Given the description of an element on the screen output the (x, y) to click on. 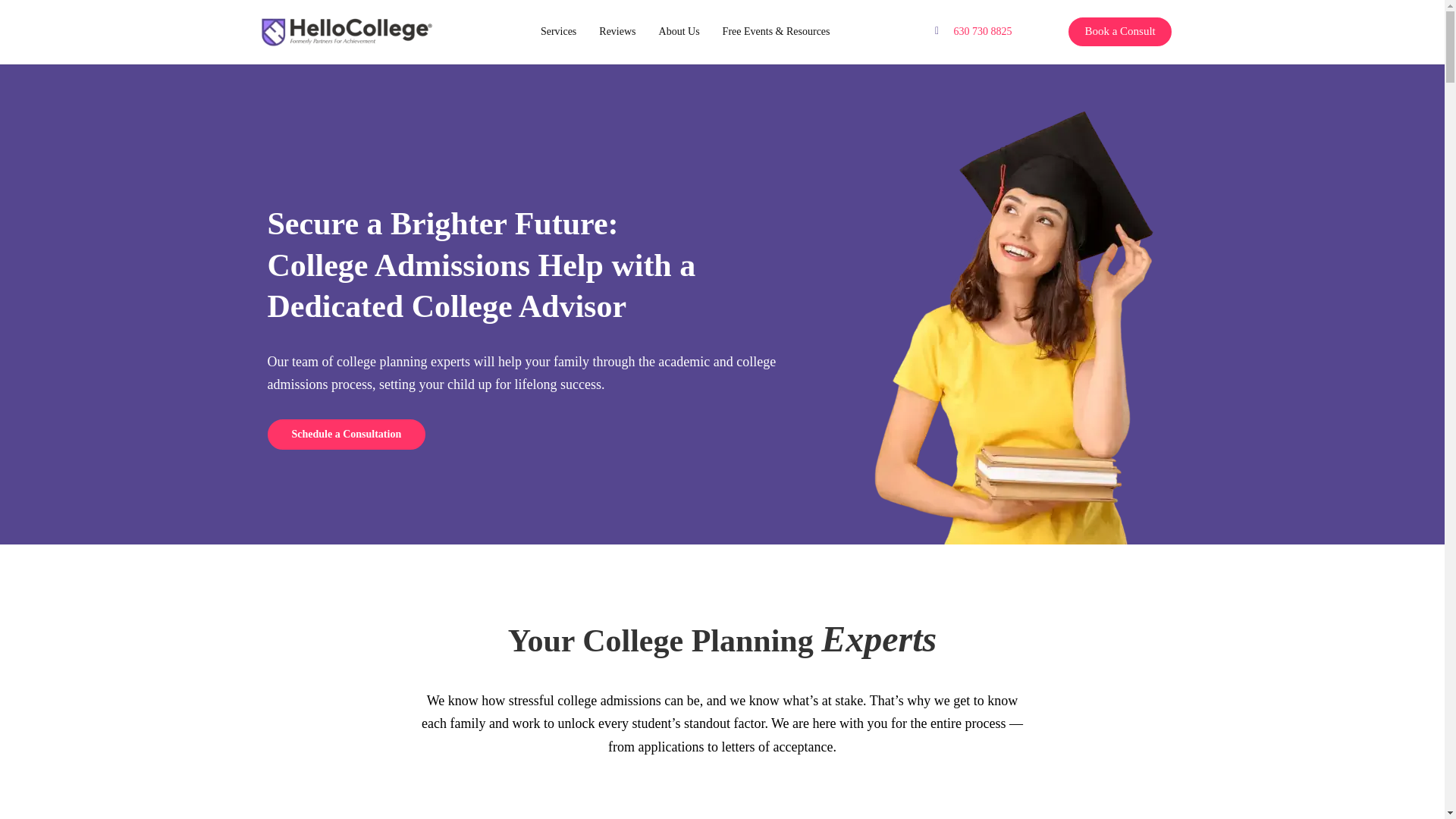
Services (558, 31)
About Us (679, 31)
Reviews (617, 31)
